Given the description of an element on the screen output the (x, y) to click on. 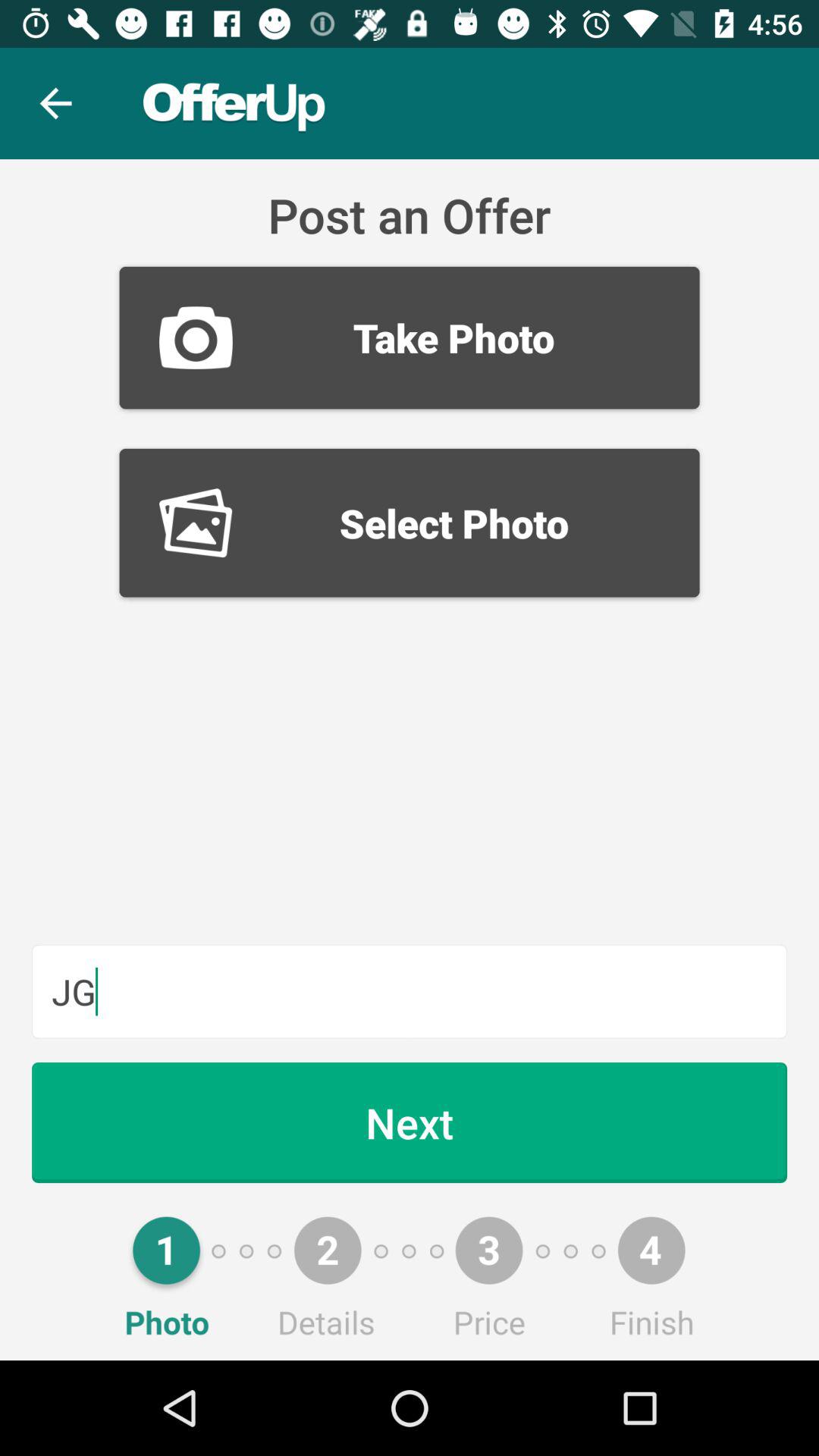
press the next item (409, 1122)
